Given the description of an element on the screen output the (x, y) to click on. 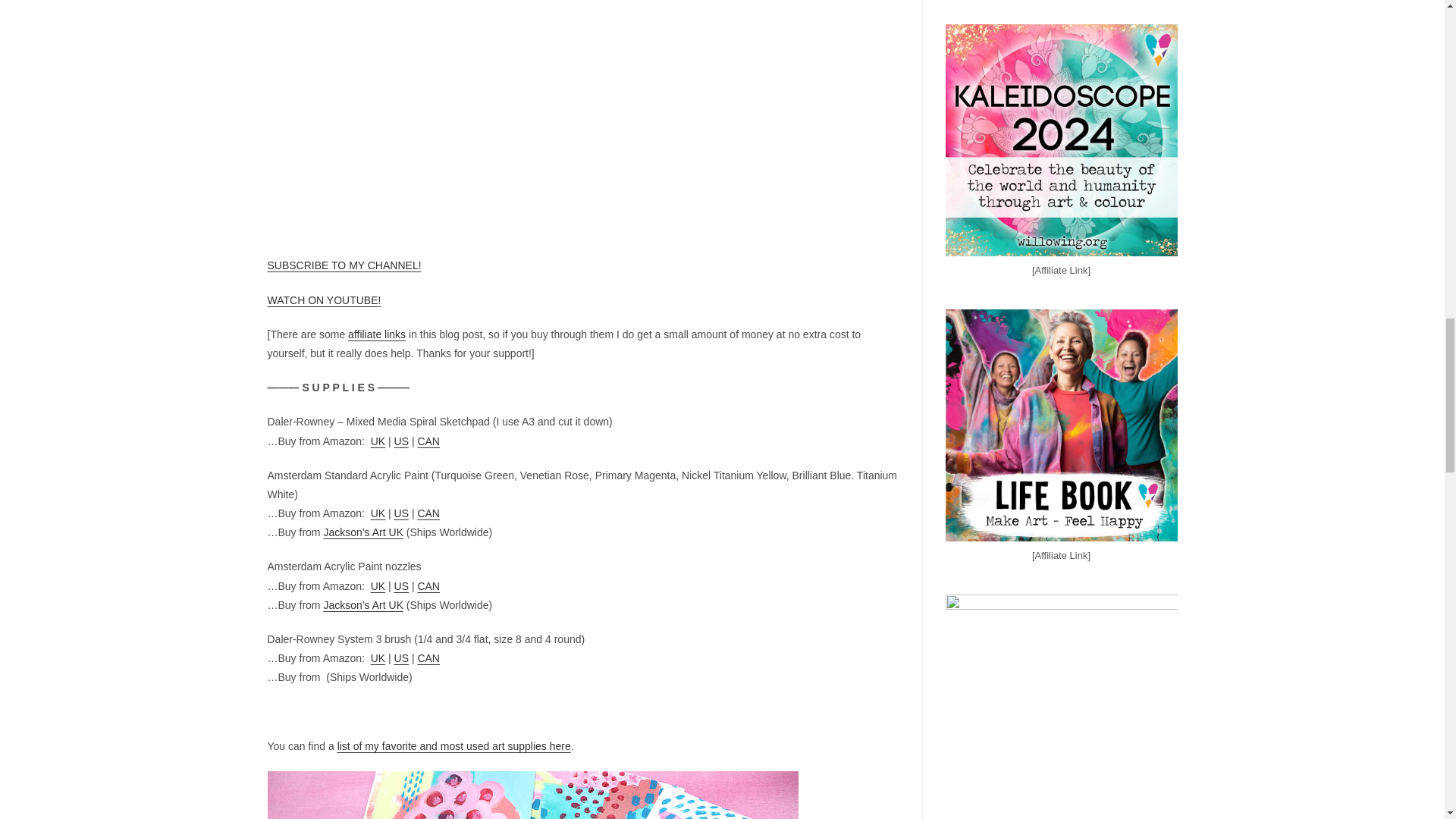
UK (378, 585)
UK (378, 512)
CAN (427, 440)
Close up of 6 Abstracts by Kim Dellow (531, 795)
UK (378, 440)
affiliate links (376, 334)
CAN (427, 512)
US (401, 585)
US (401, 512)
US (401, 440)
